Given the description of an element on the screen output the (x, y) to click on. 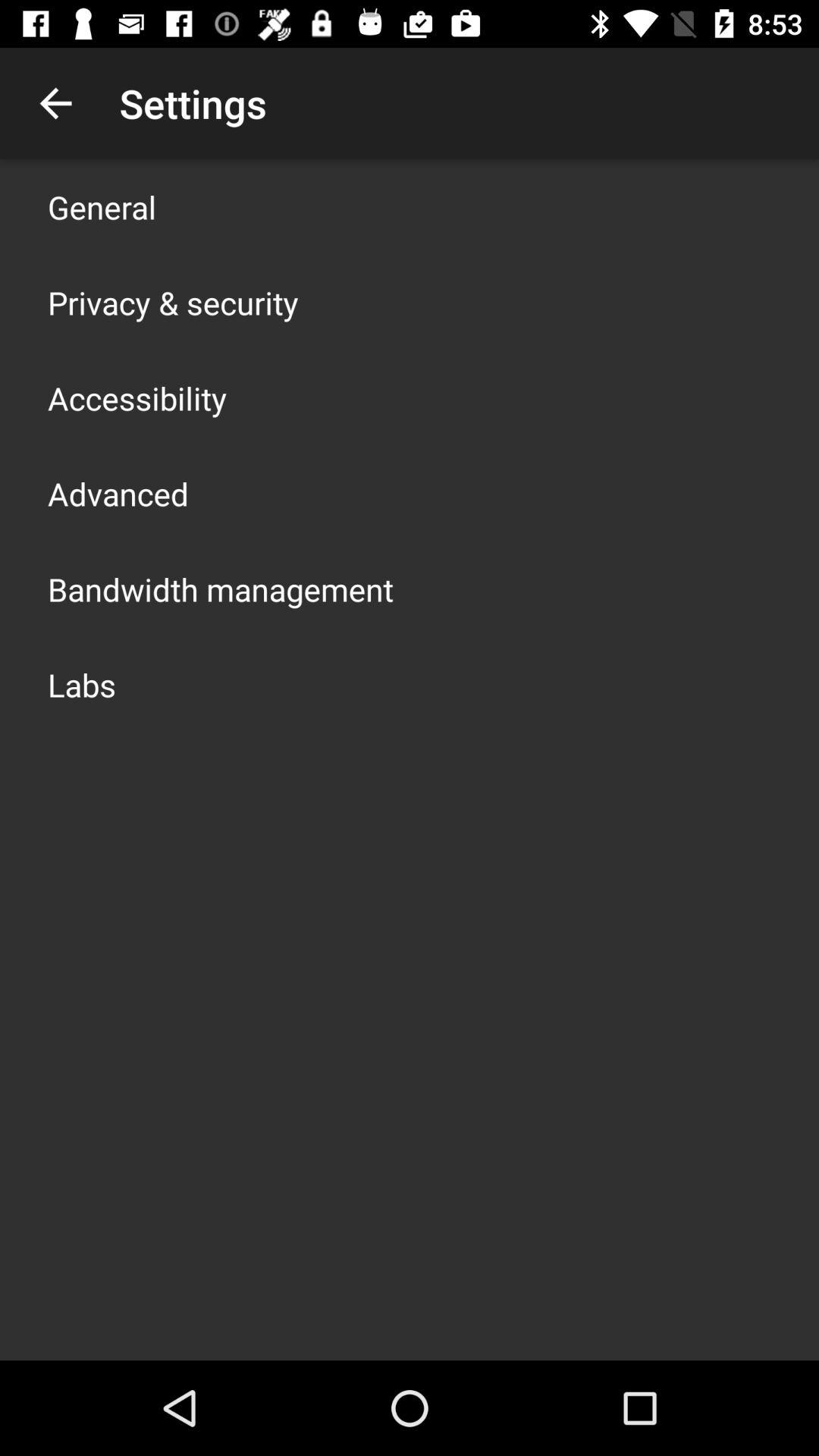
select the general icon (101, 206)
